Given the description of an element on the screen output the (x, y) to click on. 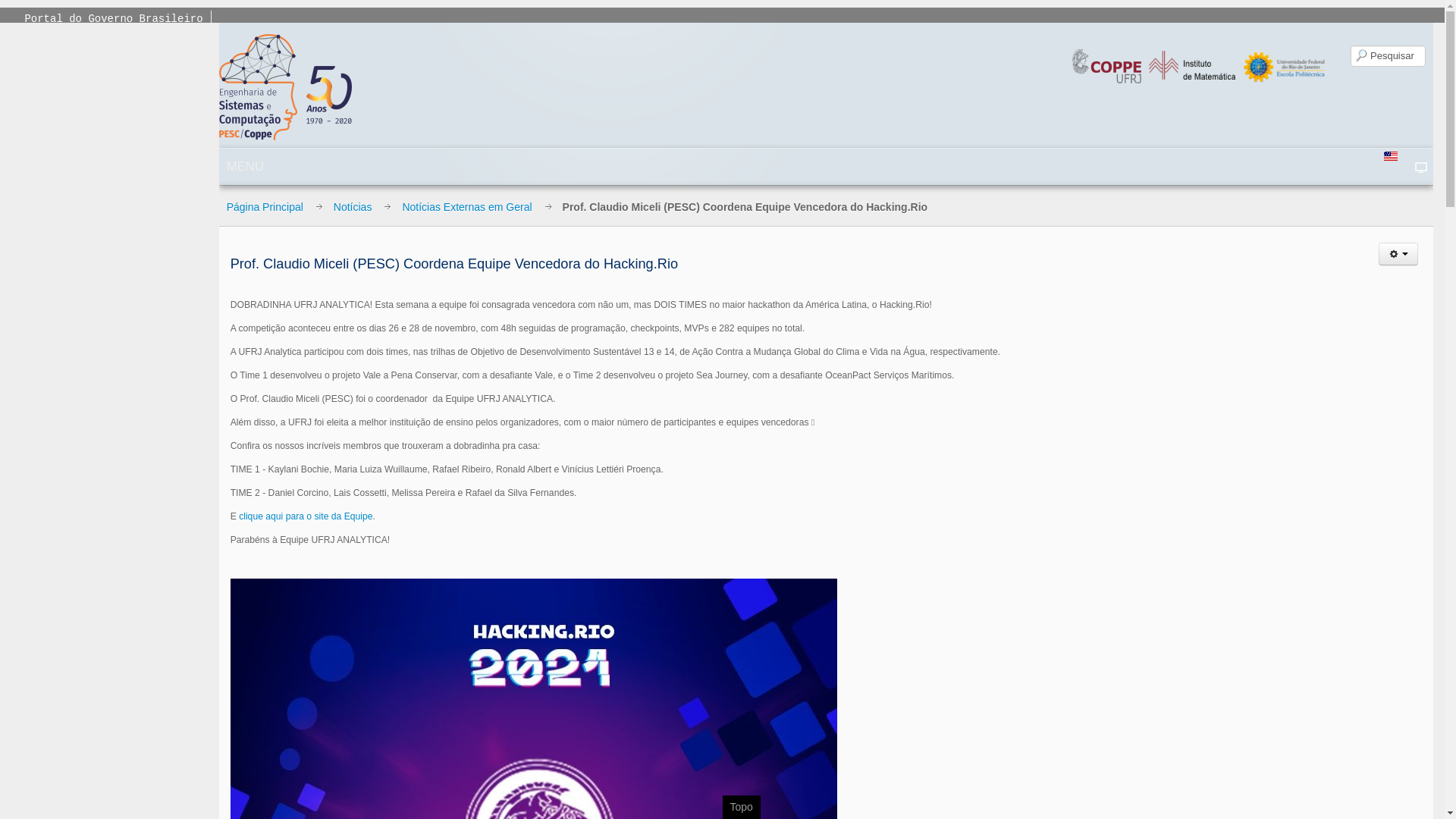
COPPE Element type: hover (1110, 65)
Portal do Governo Brasileiro Element type: text (113, 18)
clique aqui para o site da Equipe Element type: text (305, 516)
English version Element type: hover (1390, 155)
